Given the description of an element on the screen output the (x, y) to click on. 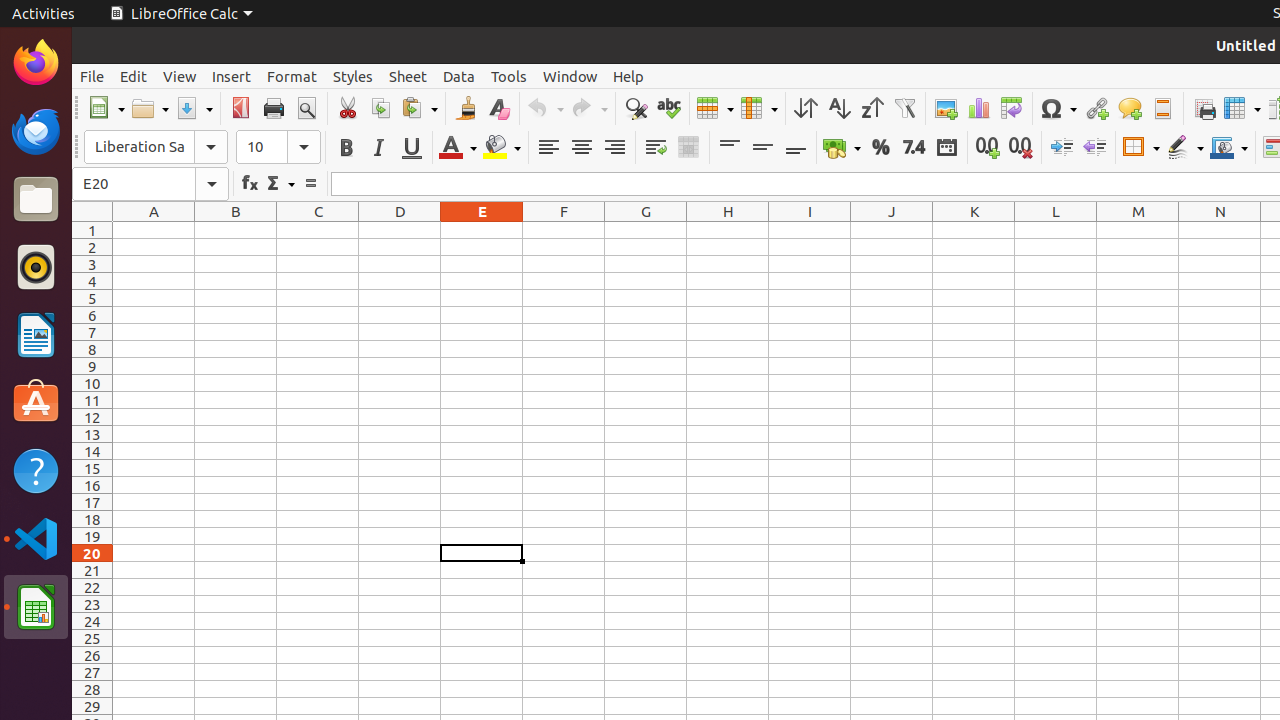
New Element type: push-button (106, 108)
Sheet Element type: menu (408, 76)
Insert Element type: menu (231, 76)
Number Element type: push-button (913, 147)
Row Element type: push-button (715, 108)
